Given the description of an element on the screen output the (x, y) to click on. 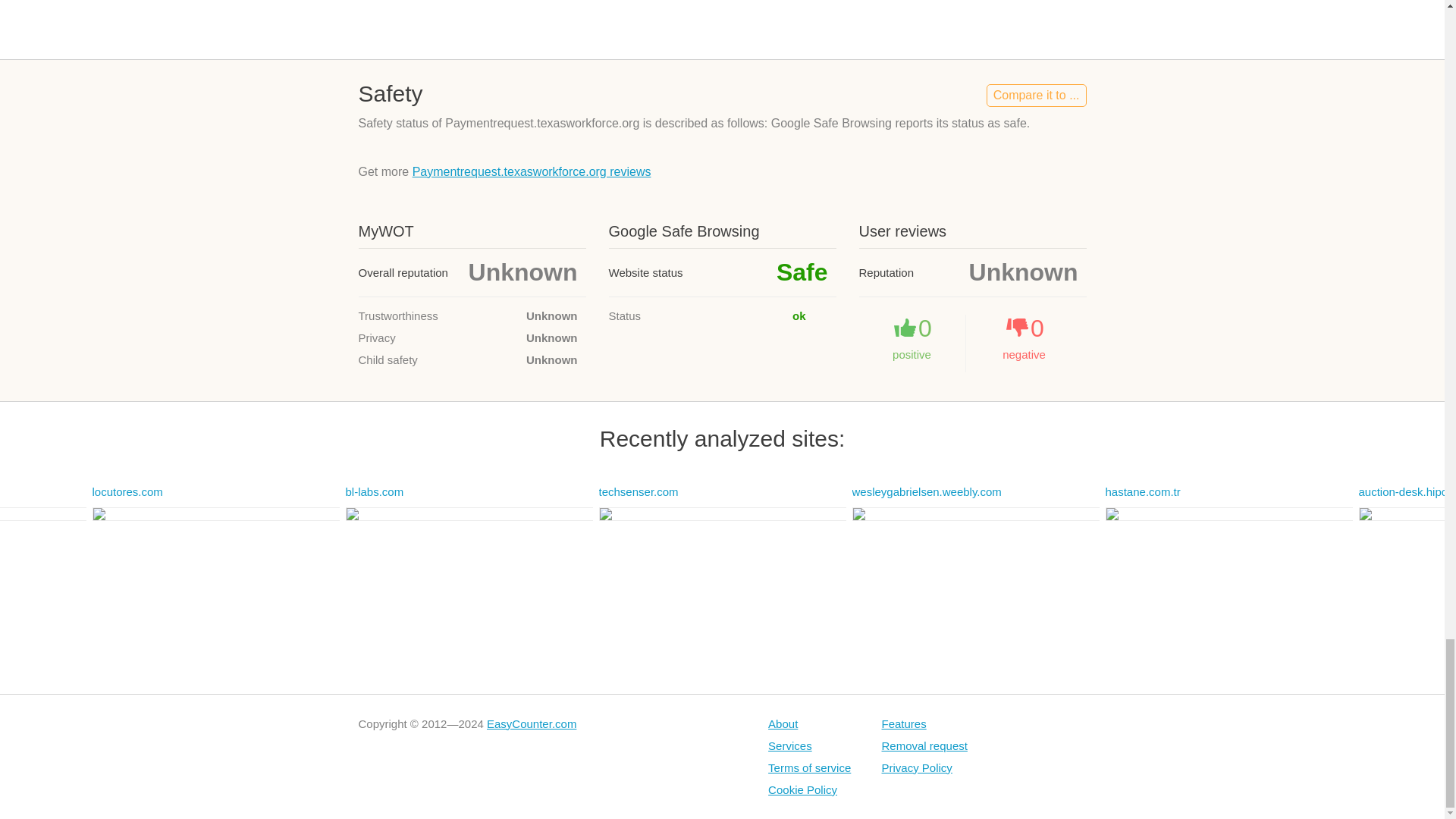
wesleygabrielsen.weebly.com (926, 491)
Paymentrequest.texasworkforce.org reviews (531, 171)
techsenser.com (638, 491)
Compare it to ... (1036, 95)
